Given the description of an element on the screen output the (x, y) to click on. 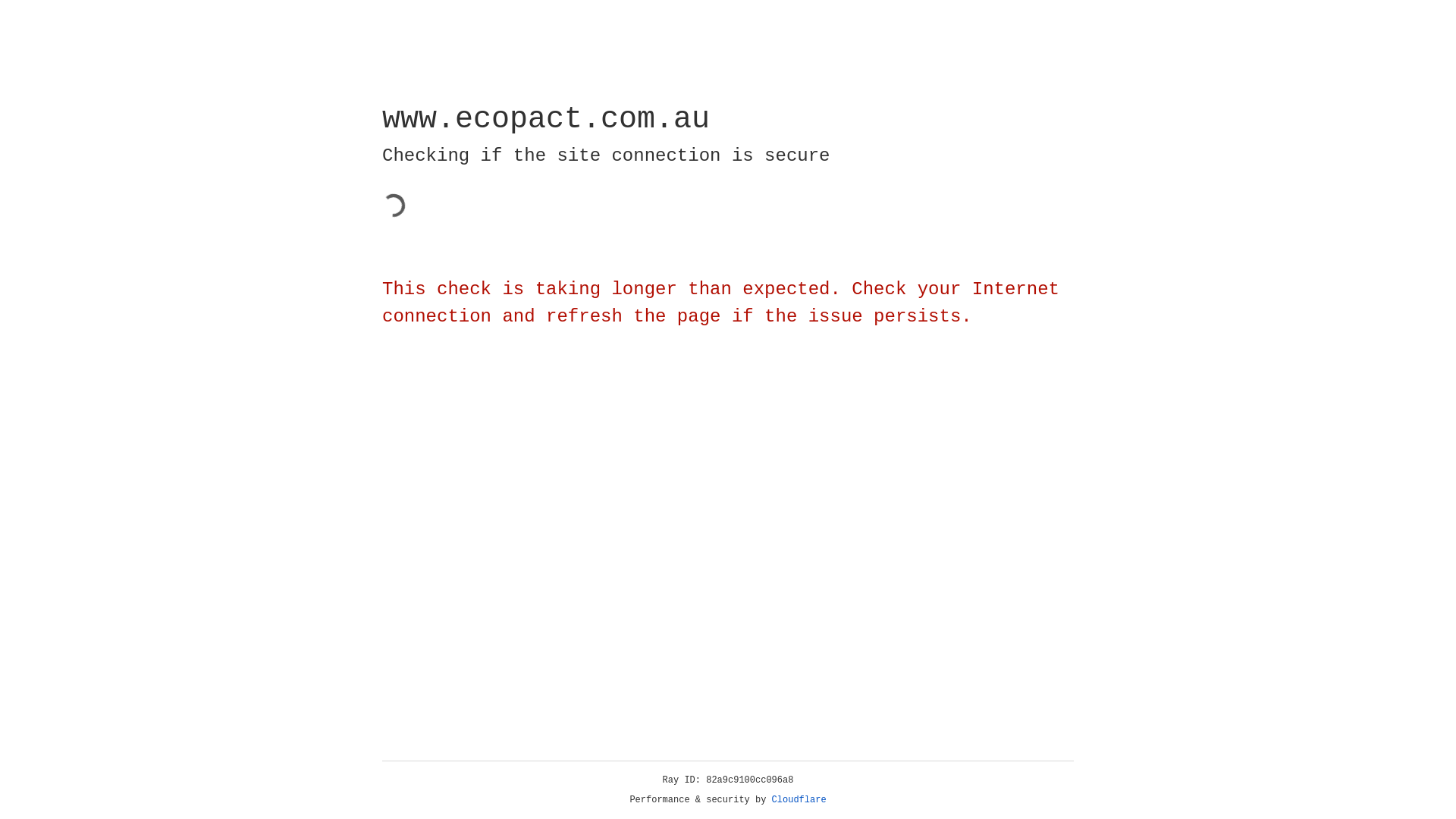
Cloudflare Element type: text (798, 799)
